Given the description of an element on the screen output the (x, y) to click on. 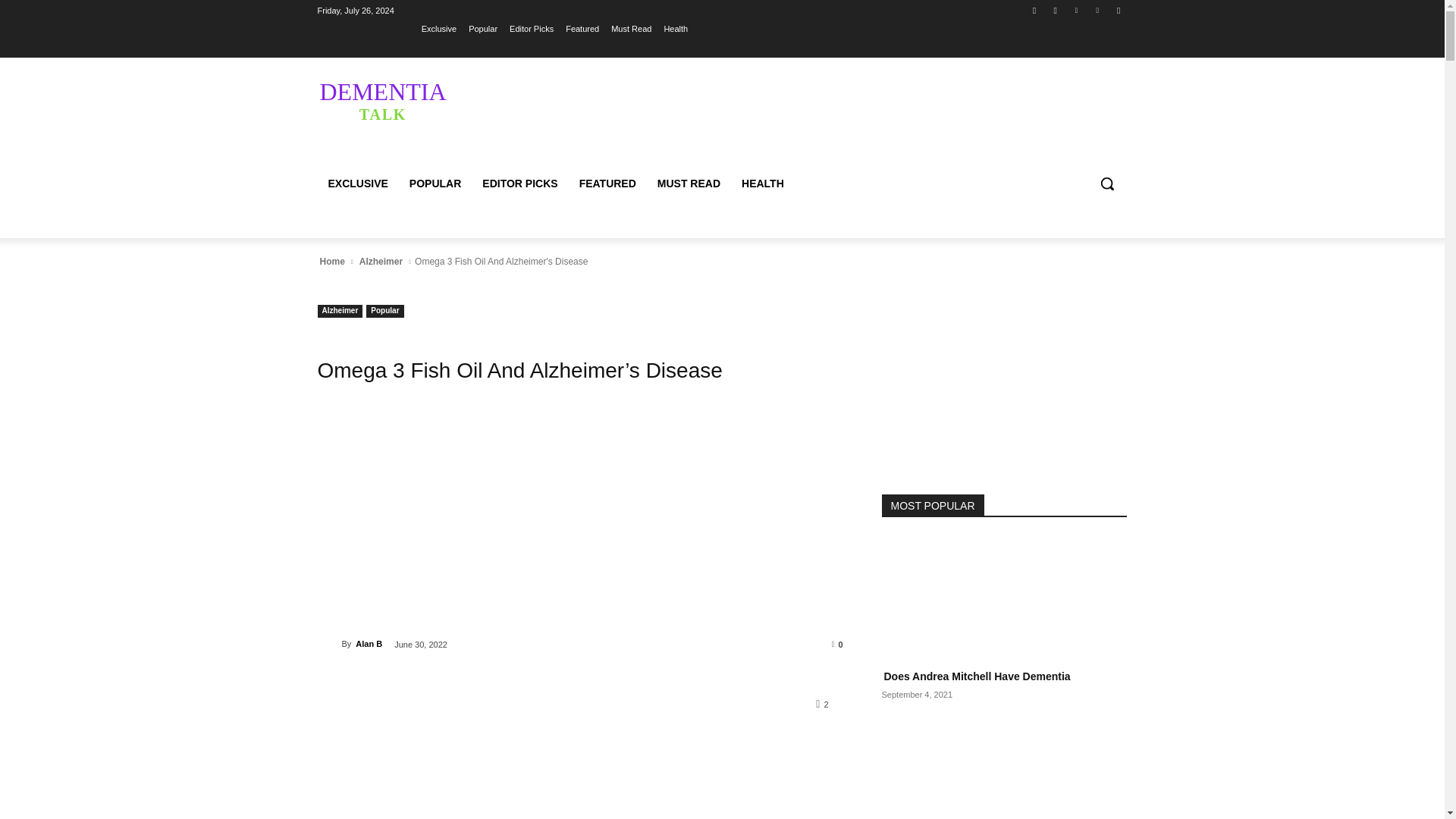
Vimeo (1097, 9)
Health (675, 28)
Twitter (1075, 9)
Youtube (1117, 9)
MUST READ (688, 183)
Facebook (1034, 9)
Home (331, 261)
Featured (582, 28)
Alan B (328, 643)
HEALTH (762, 183)
FEATURED (607, 183)
View all posts in Alzheimer (380, 261)
EDITOR PICKS (519, 183)
EXCLUSIVE (425, 100)
